Given the description of an element on the screen output the (x, y) to click on. 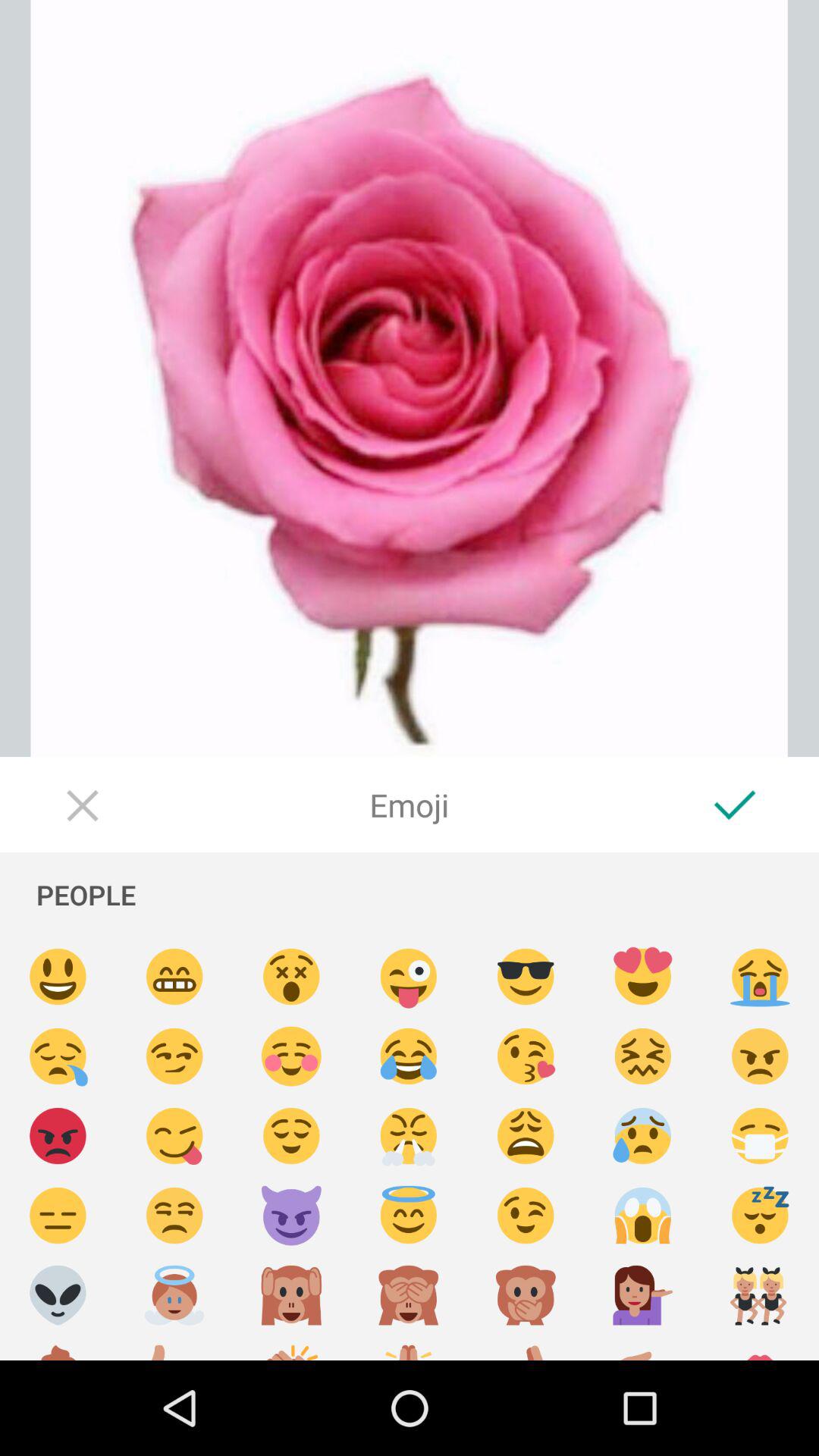
choose emoji (174, 1136)
